Given the description of an element on the screen output the (x, y) to click on. 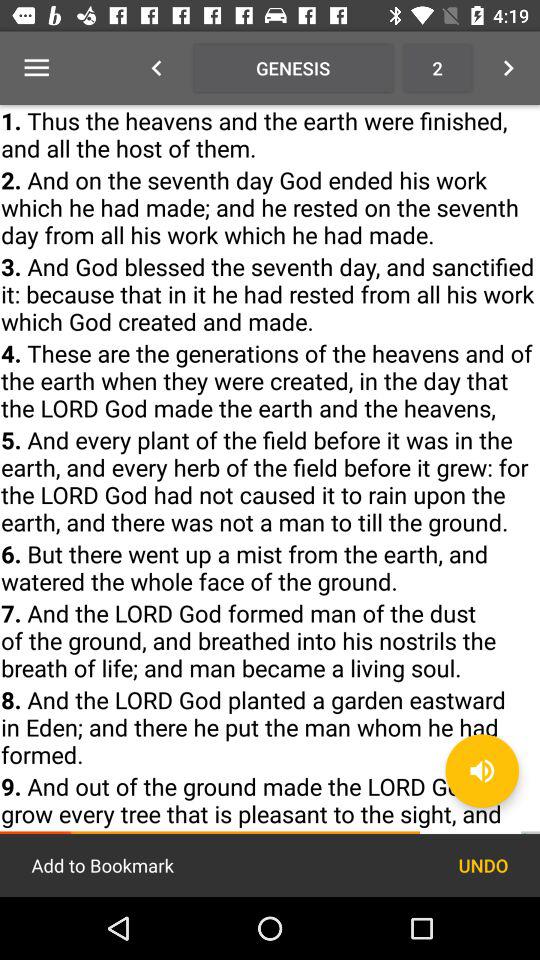
select volume icon (482, 771)
click on icon which is left to genesis (155, 68)
select number 2 which is after genesis on page (436, 68)
click on the caret right icon which is beside the number 2 (508, 68)
